Given the description of an element on the screen output the (x, y) to click on. 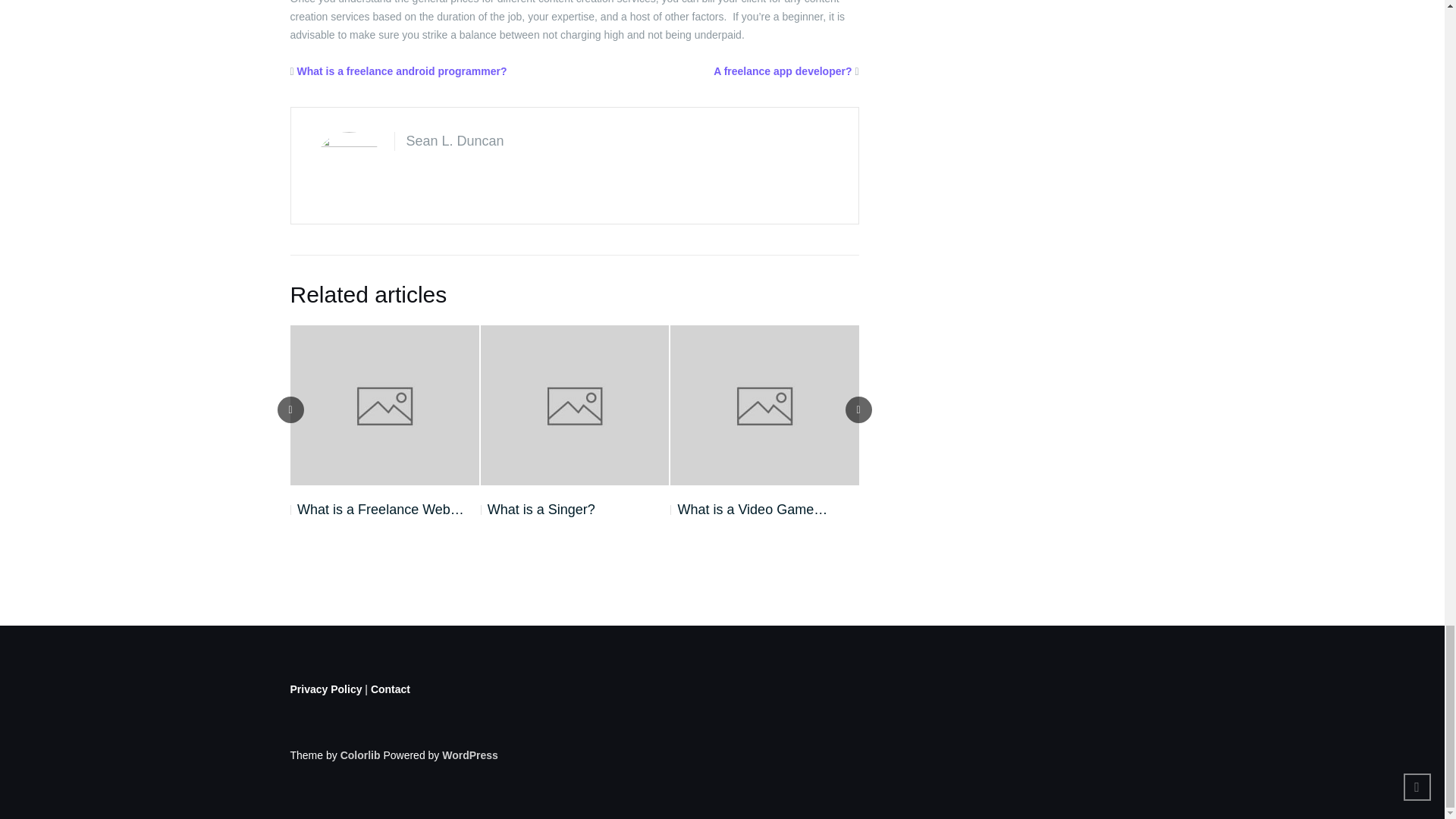
What is a Singer? (537, 509)
What is a freelance android programmer? (401, 70)
A freelance app developer? (782, 70)
WordPress.org (469, 755)
Colorlib (360, 755)
